Given the description of an element on the screen output the (x, y) to click on. 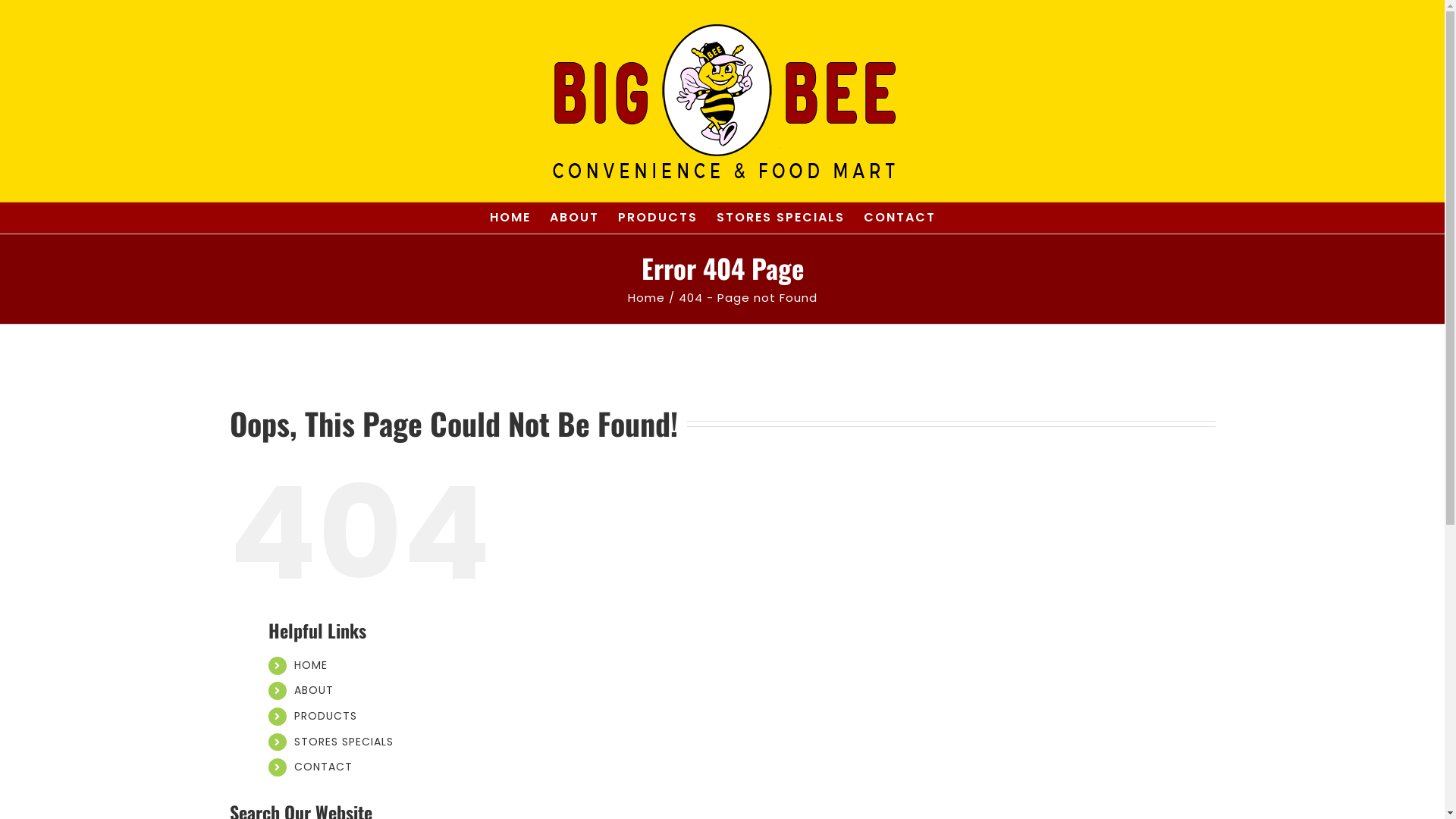
ABOUT Element type: text (574, 217)
HOME Element type: text (509, 217)
HOME Element type: text (310, 664)
CONTACT Element type: text (323, 766)
STORES SPECIALS Element type: text (343, 741)
STORES SPECIALS Element type: text (780, 217)
CONTACT Element type: text (899, 217)
PRODUCTS Element type: text (657, 217)
PRODUCTS Element type: text (325, 715)
ABOUT Element type: text (313, 689)
Home Element type: text (646, 297)
